Given the description of an element on the screen output the (x, y) to click on. 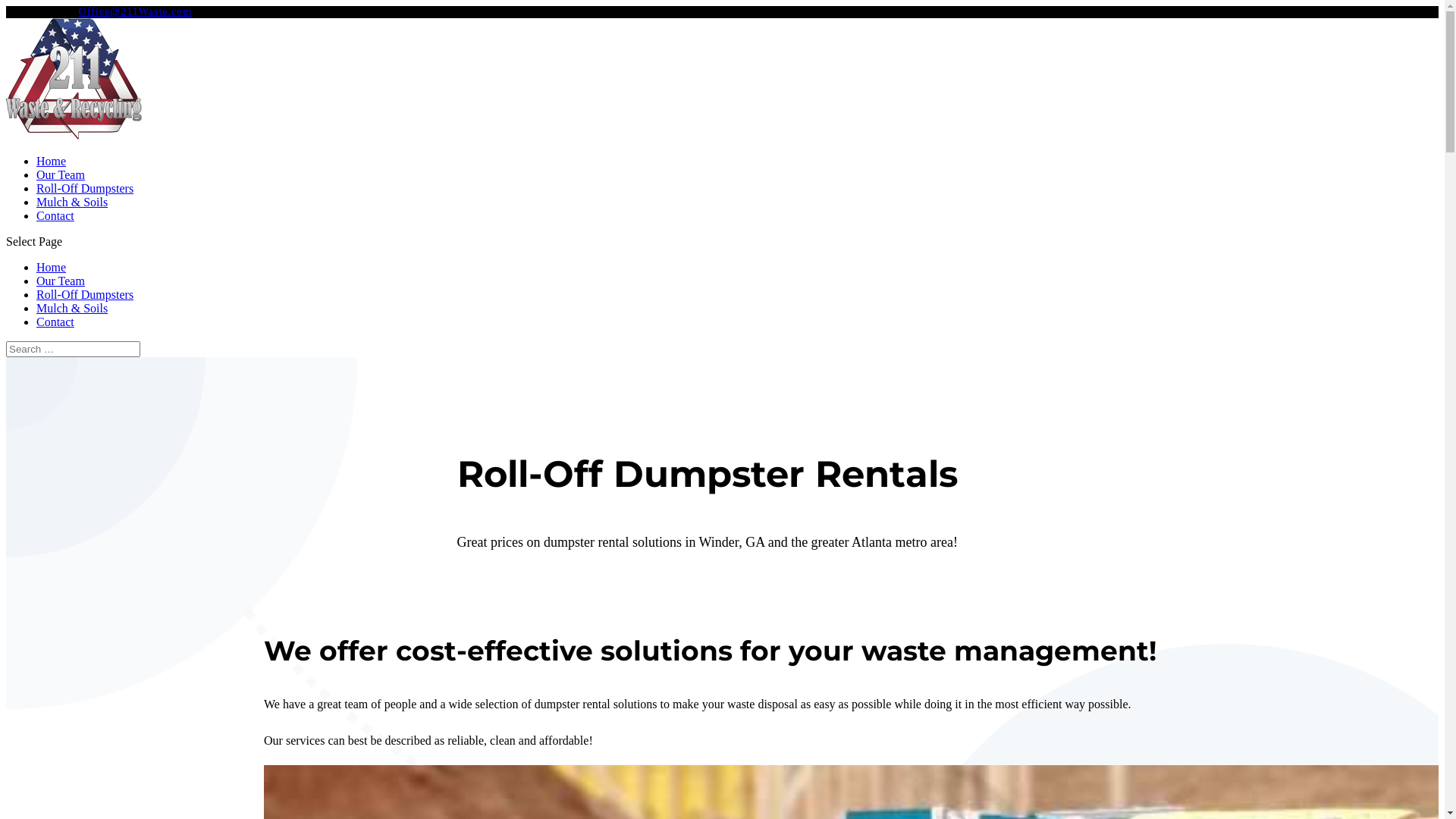
Mulch & Soils Element type: text (71, 201)
Home Element type: text (50, 266)
Search for: Element type: hover (73, 349)
Our Team Element type: text (60, 280)
Roll-Off Dumpsters Element type: text (84, 294)
Contact Element type: text (55, 321)
Office@211Waste.com Element type: text (134, 11)
Home Element type: text (50, 160)
Contact Element type: text (55, 215)
Roll-Off Dumpsters Element type: text (84, 188)
Mulch & Soils Element type: text (71, 307)
Our Team Element type: text (60, 174)
